Given the description of an element on the screen output the (x, y) to click on. 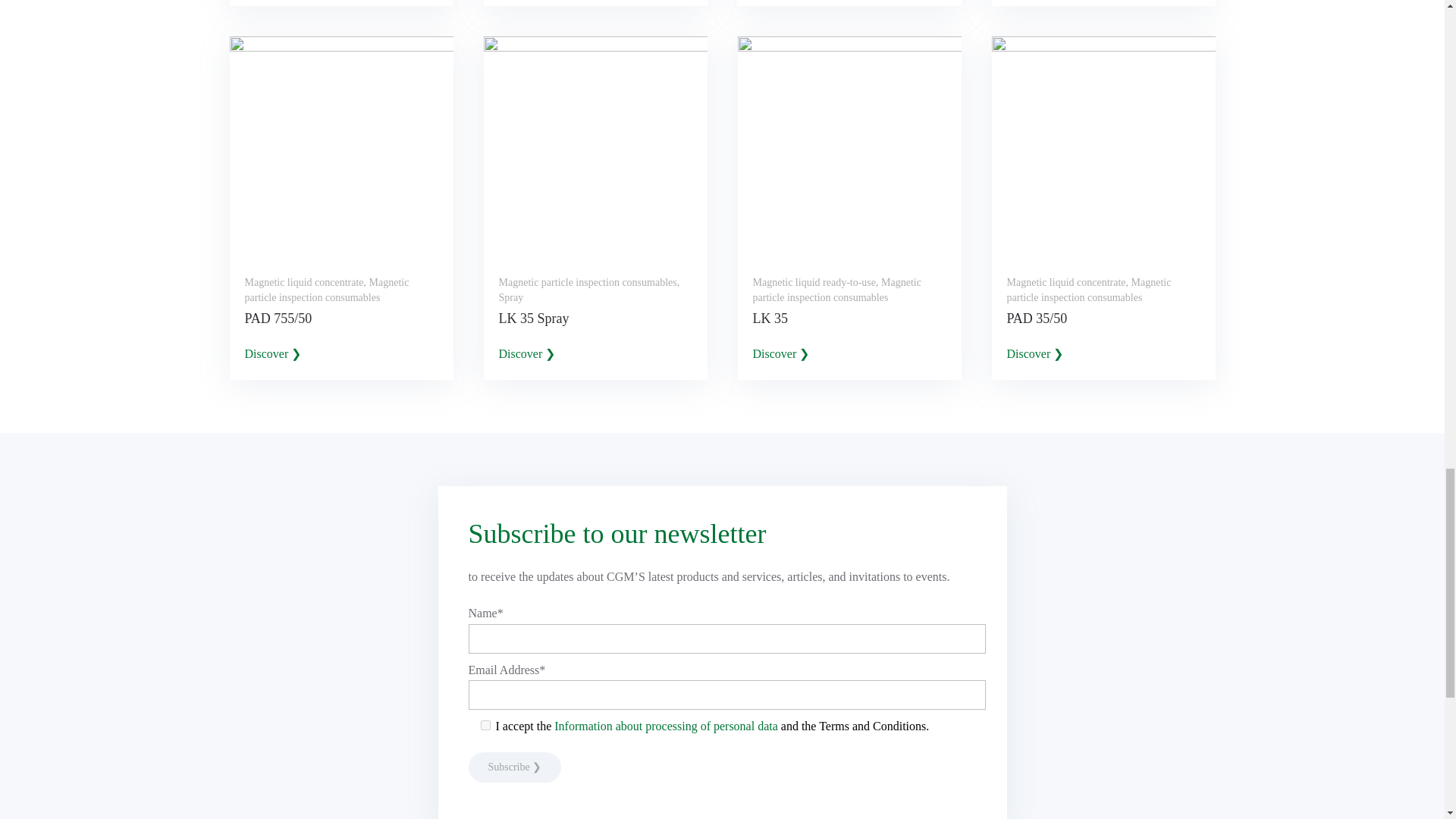
1 (485, 725)
